Given the description of an element on the screen output the (x, y) to click on. 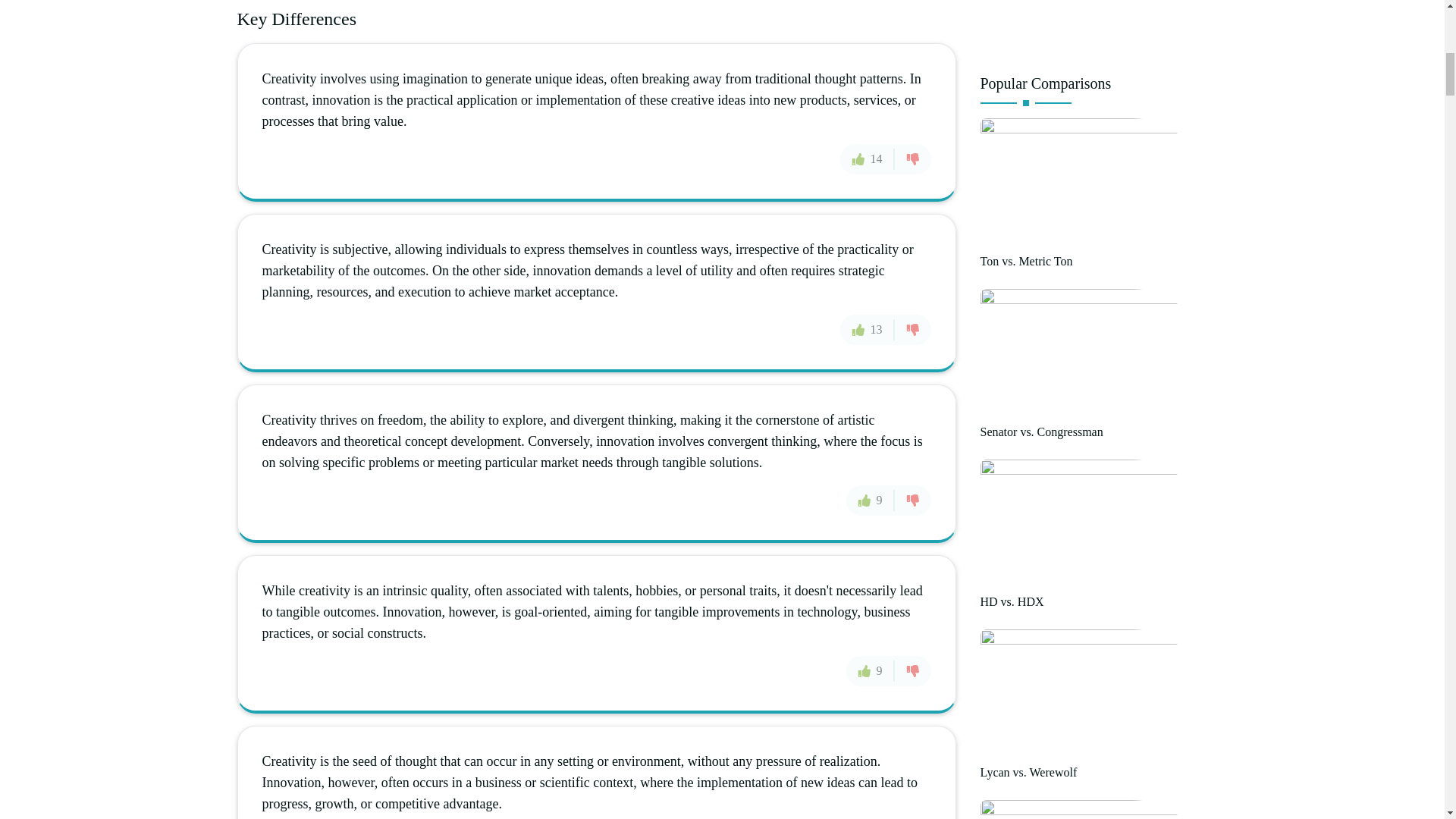
13 (867, 328)
9 (870, 670)
Advertisement (1093, 30)
9 (870, 500)
14 (867, 159)
